Given the description of an element on the screen output the (x, y) to click on. 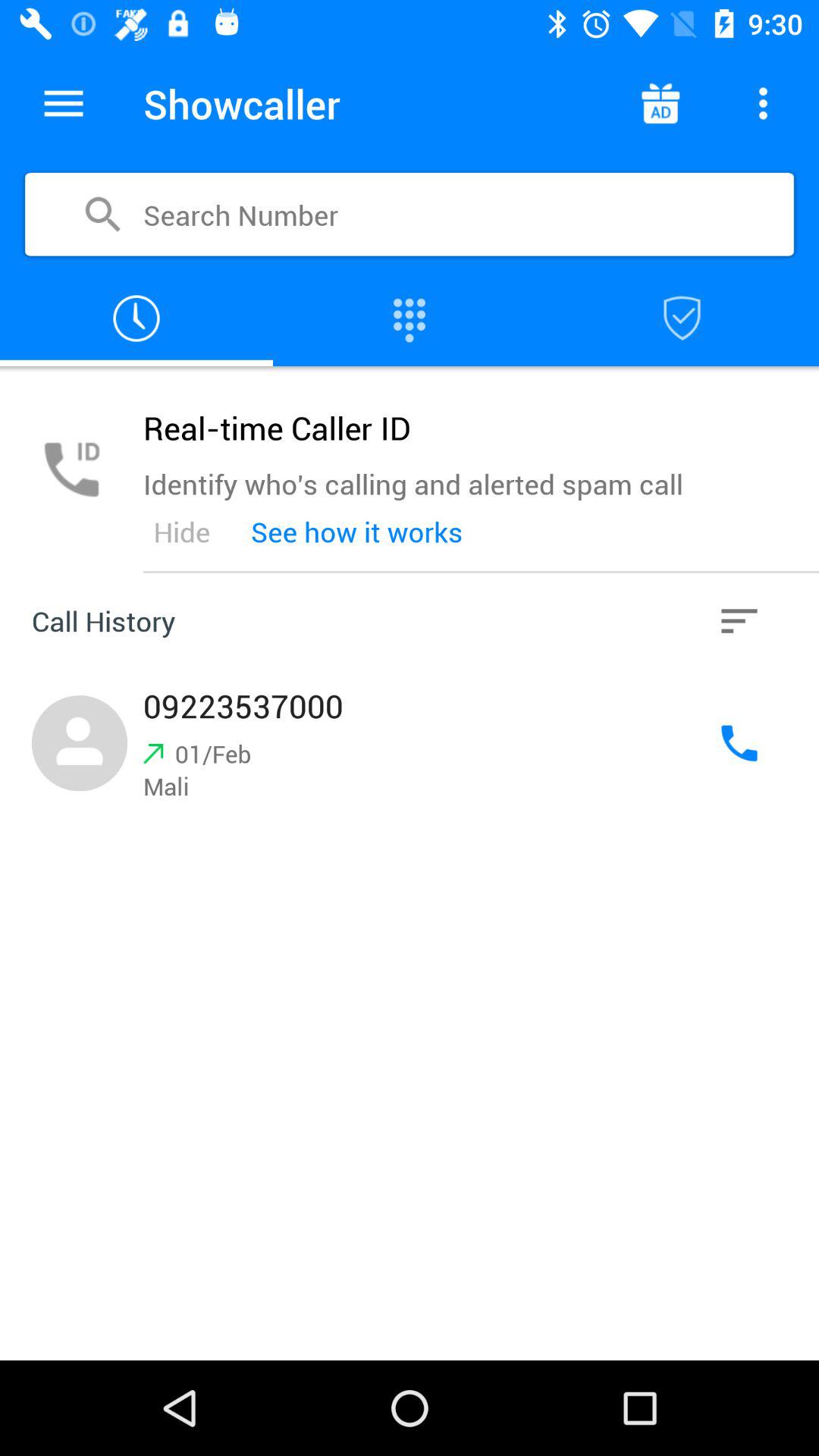
shows the menu drop down (63, 103)
